Given the description of an element on the screen output the (x, y) to click on. 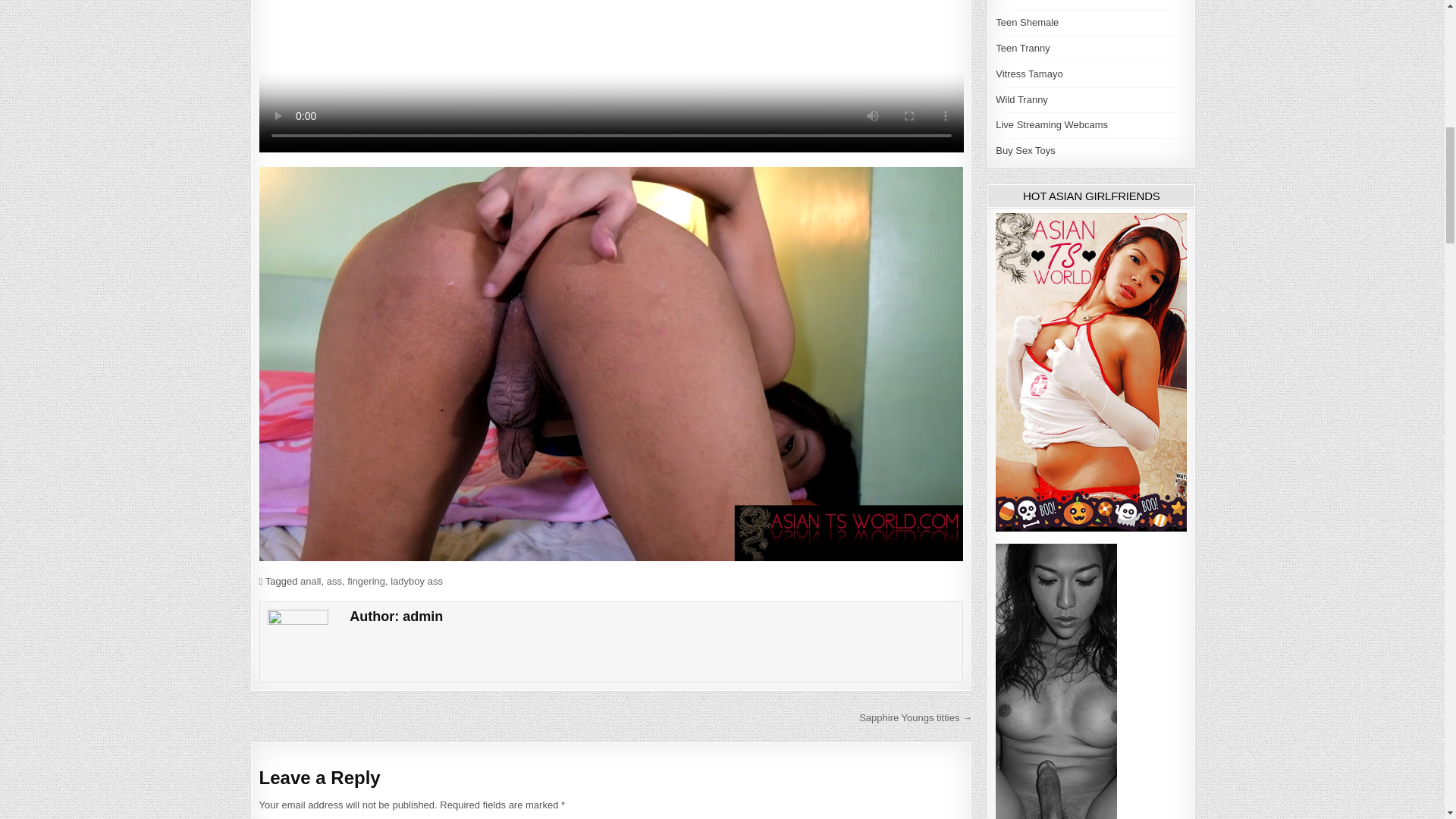
fingering (366, 581)
ladyboy ass (416, 581)
ass (334, 581)
anall (309, 581)
